Given the description of an element on the screen output the (x, y) to click on. 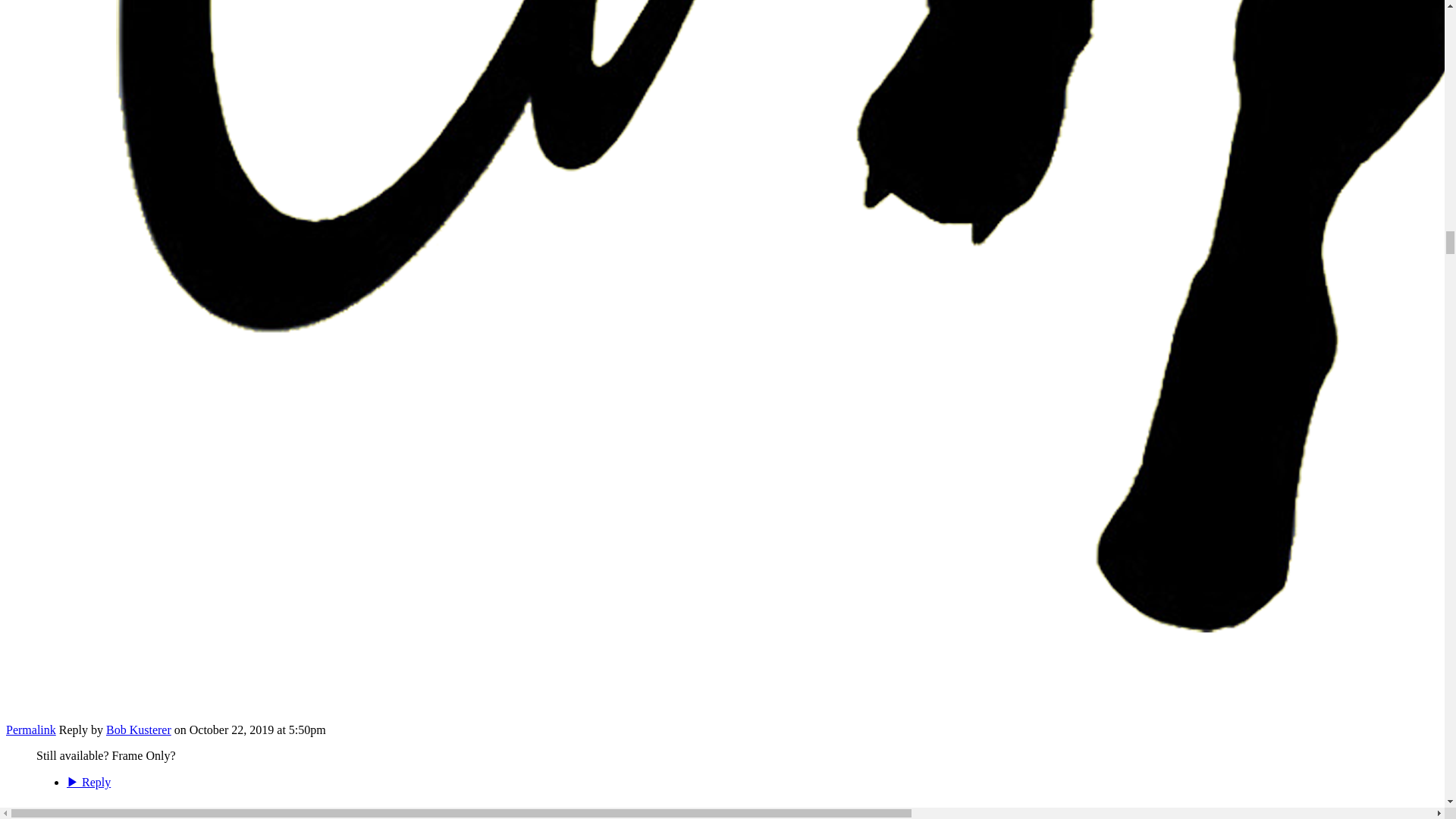
Permalink to this Reply (30, 729)
